Given the description of an element on the screen output the (x, y) to click on. 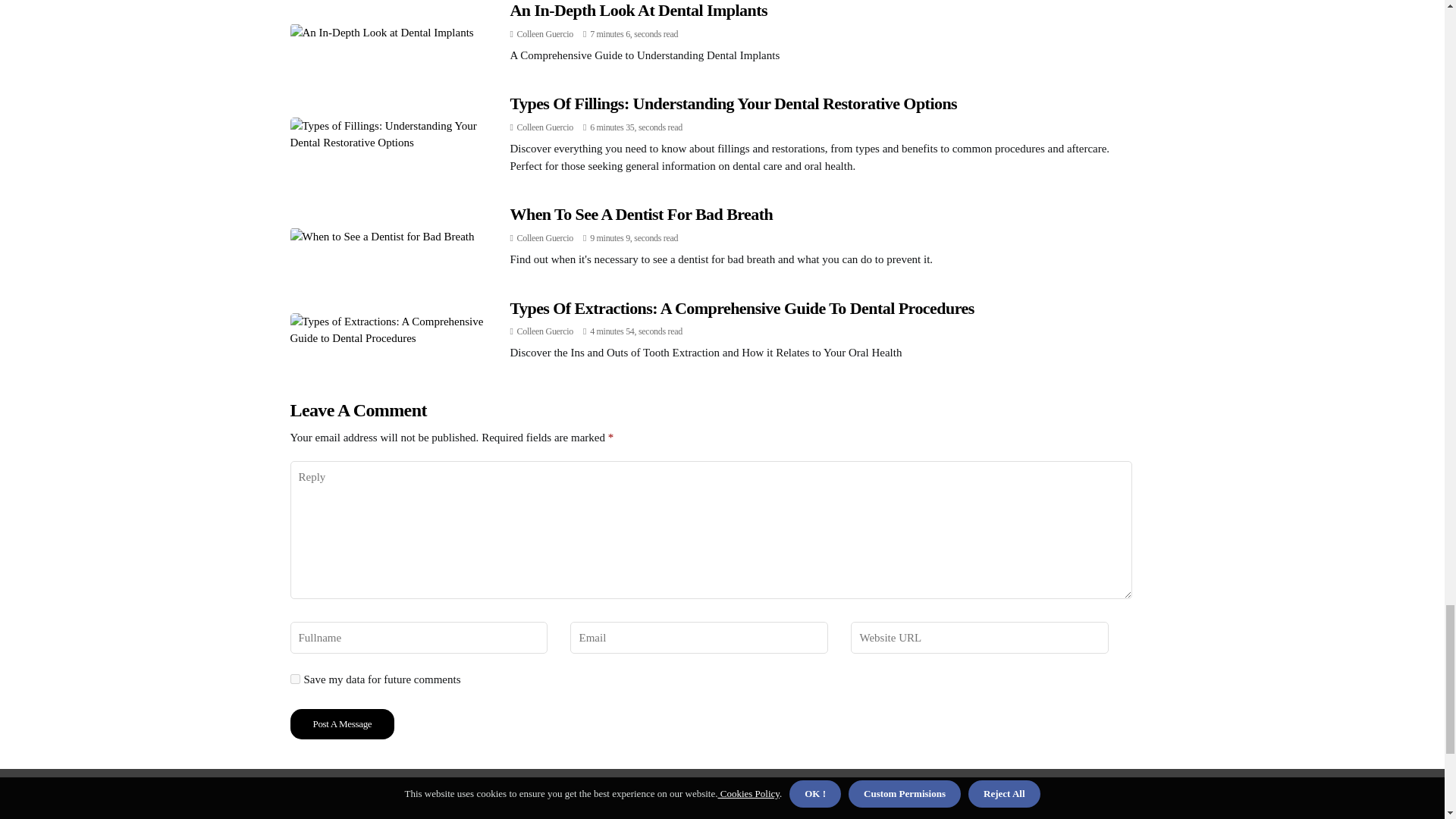
Posts by Colleen Guercio (544, 330)
Posts by Colleen Guercio (544, 33)
Post a Message (341, 724)
Posts by Colleen Guercio (544, 127)
Posts by Colleen Guercio (544, 237)
yes (294, 678)
